Given the description of an element on the screen output the (x, y) to click on. 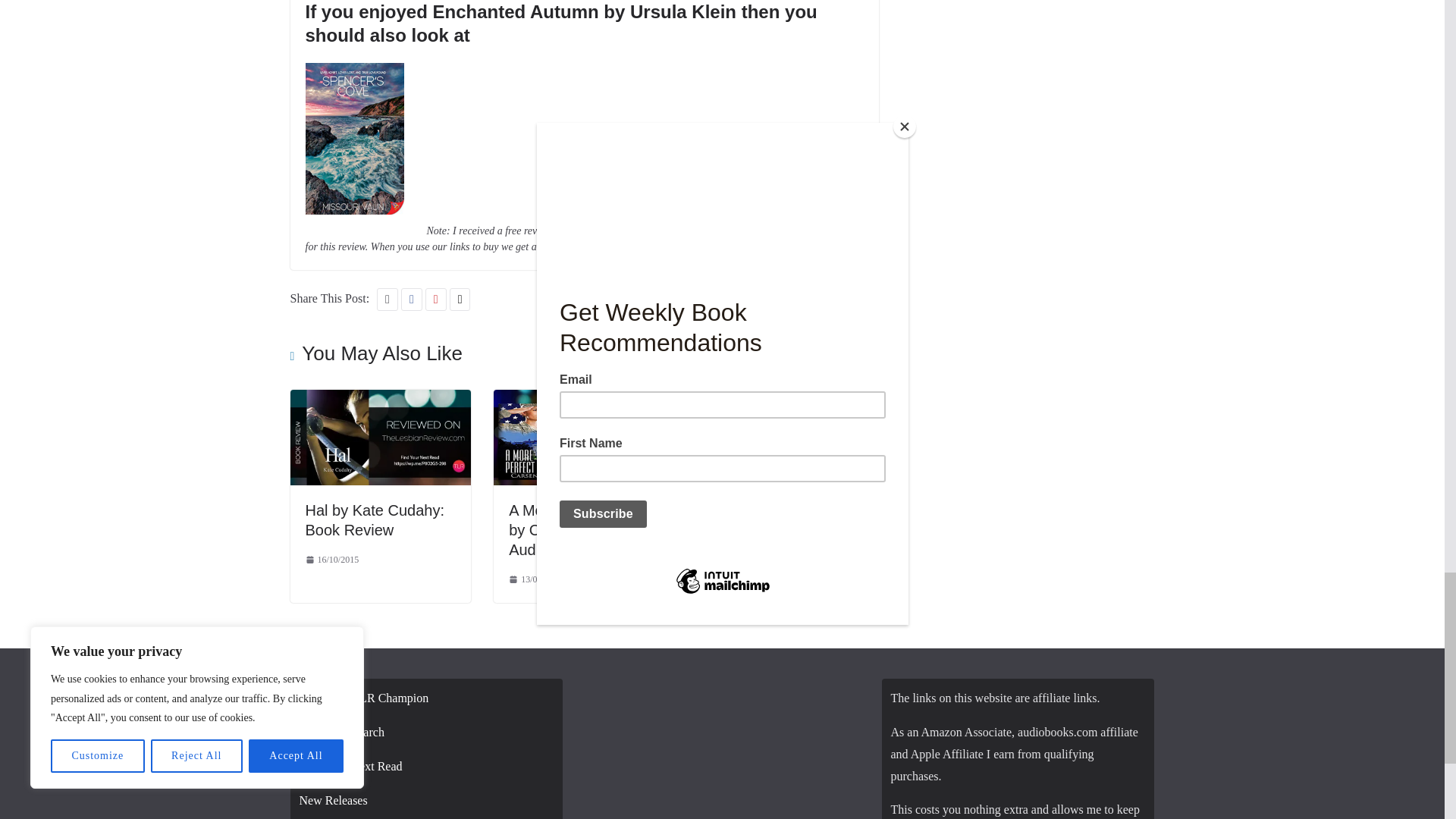
A More Perfect Union by Carsen Taite: Audiobook Review (584, 399)
12:00 am (331, 560)
12:00 am (535, 579)
A More Perfect Union by Carsen Taite: Audiobook Review (580, 529)
Hal by Kate Cudahy: Book Review (379, 399)
Hal by Kate Cudahy: Book Review (374, 520)
